Given the description of an element on the screen output the (x, y) to click on. 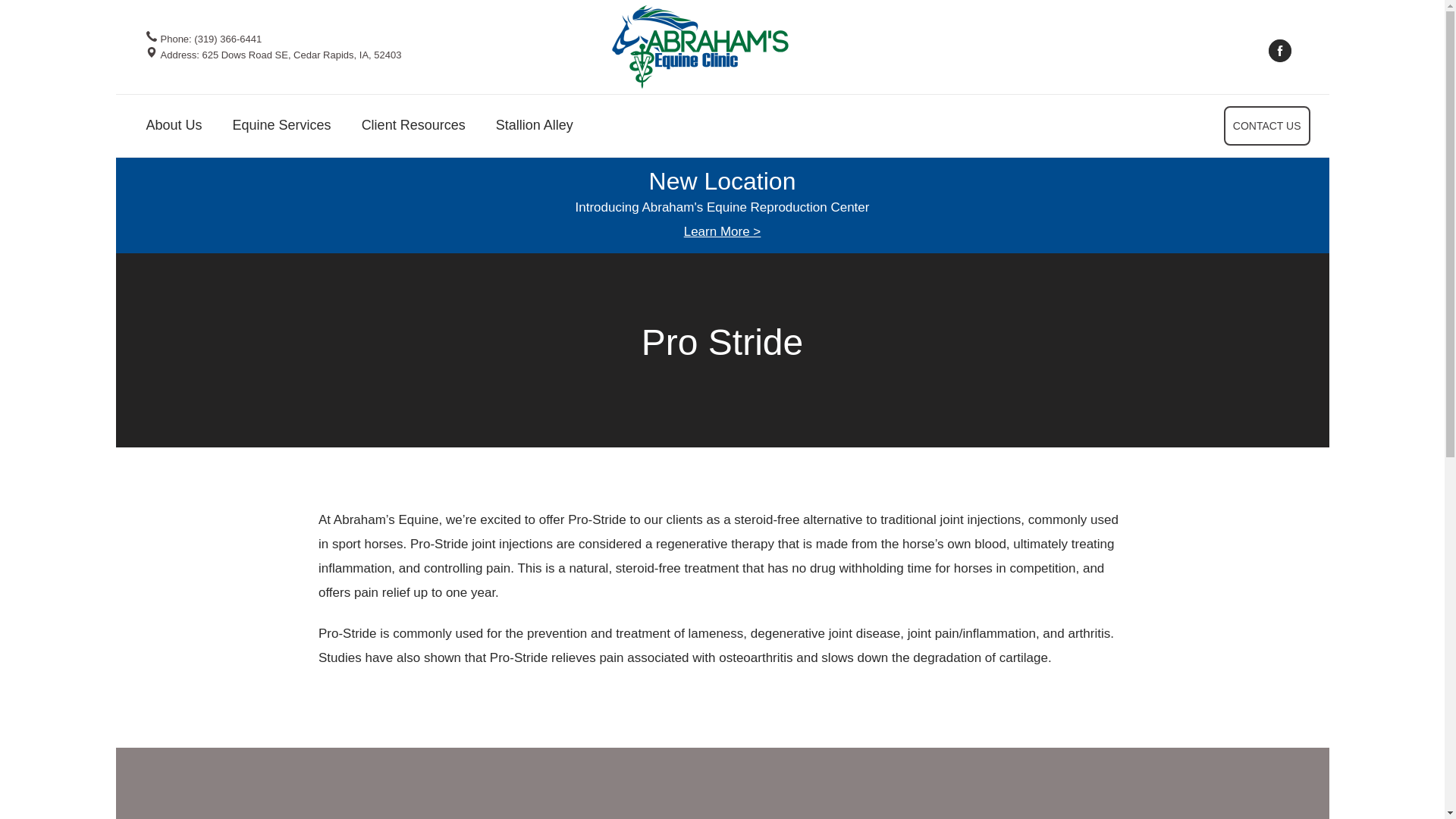
About Us (173, 128)
Equine Services (280, 54)
About Us (281, 128)
Logo (173, 128)
Equine Services (698, 46)
Facebook (281, 128)
Address: 625 Dows Road SE, Cedar Rapids, IA, 52403 (1279, 50)
